Given the description of an element on the screen output the (x, y) to click on. 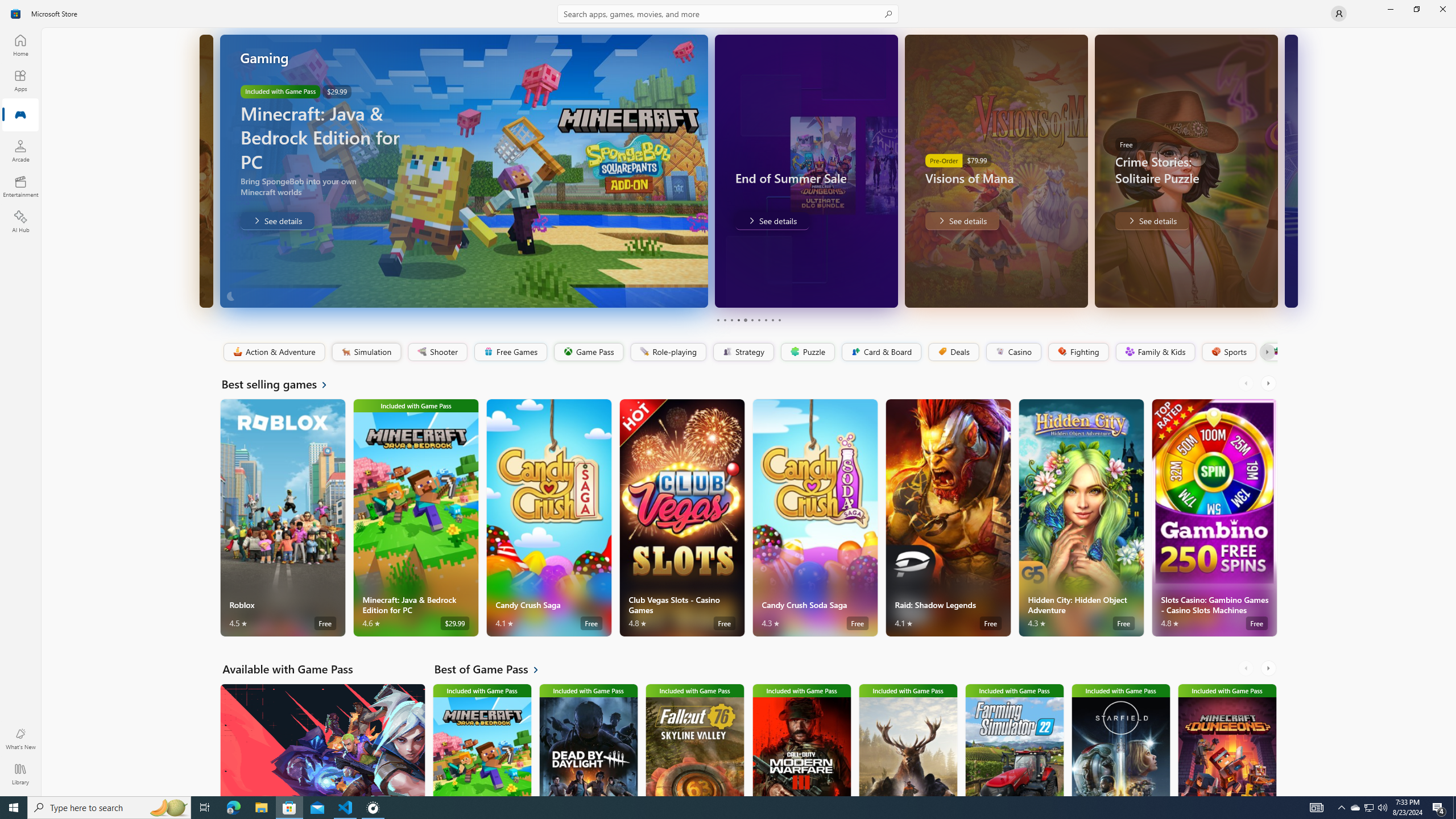
Puzzle (807, 352)
Roblox. Average rating of 4.5 out of five stars. Free   (282, 517)
User profile (1338, 13)
Search (727, 13)
Class: Button (1266, 351)
AutomationID: RightScrollButton (1269, 668)
Casino (1013, 352)
AI Hub (20, 221)
AutomationID: NavigationControl (728, 398)
Page 8 (764, 319)
Page 3 (731, 319)
Class: Image (1274, 351)
Page 5 (744, 319)
